Given the description of an element on the screen output the (x, y) to click on. 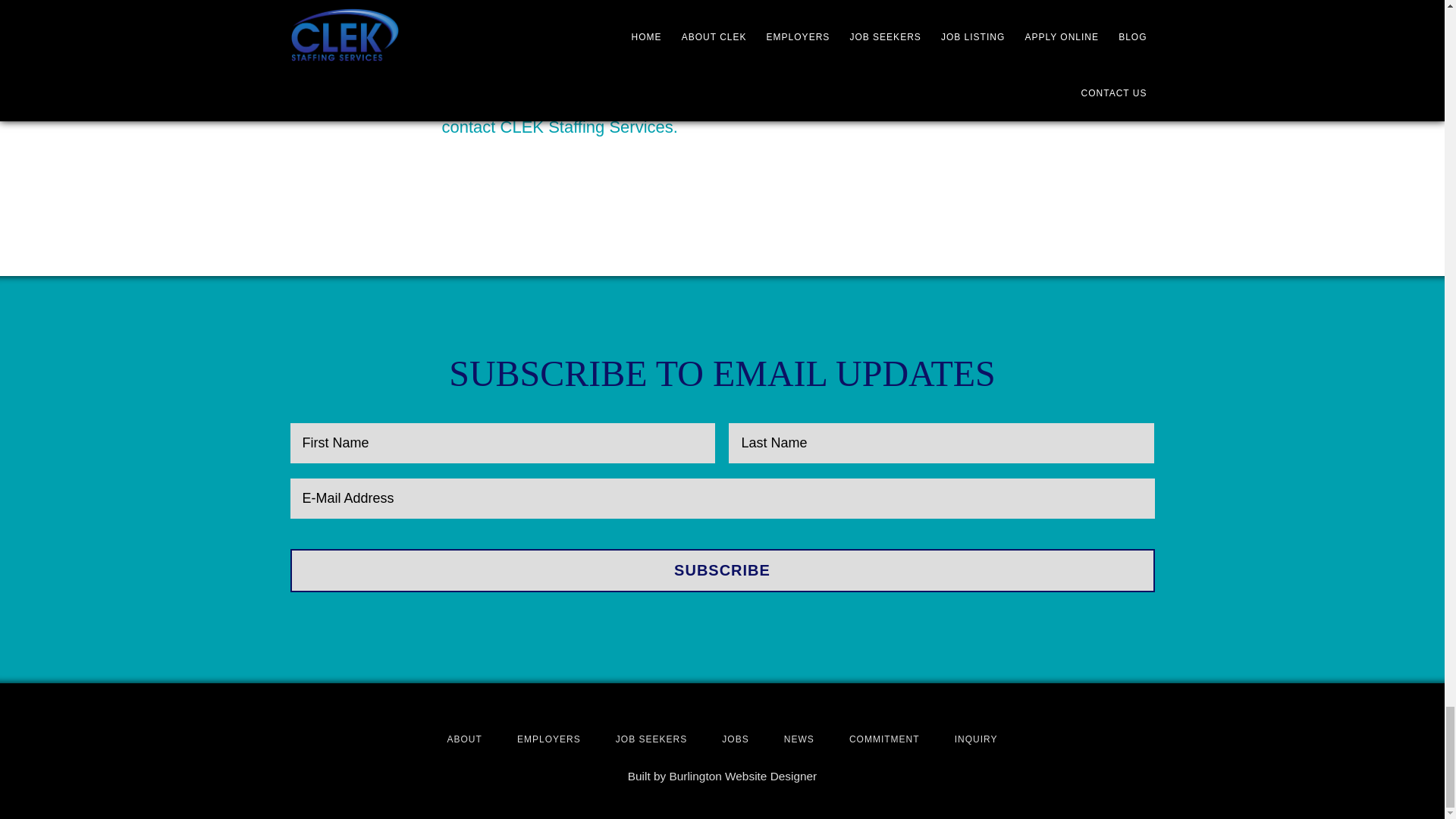
NEWS (798, 739)
COMMITMENT (884, 739)
Subscribe (721, 570)
ABOUT (463, 739)
please contact CLEK Staffing Services. (705, 114)
Subscribe (721, 570)
JOB SEEKERS (651, 739)
JOBS (735, 739)
Burlington Website Designer (742, 775)
INQUIRY (976, 739)
EMPLOYERS (548, 739)
Built by RCC Graphic Designs (742, 775)
